Given the description of an element on the screen output the (x, y) to click on. 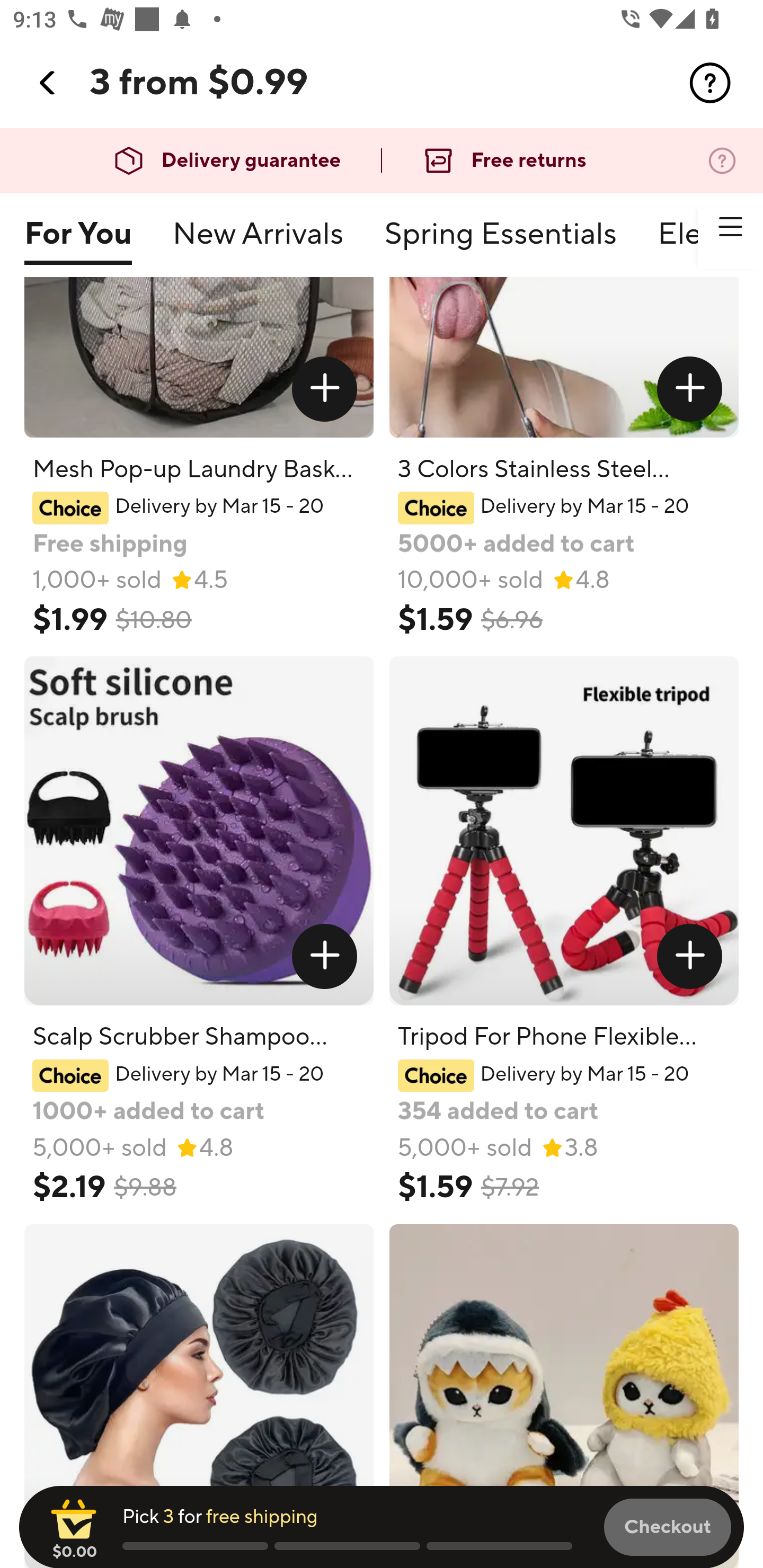
 (710, 82)
 (48, 82)
 (730, 226)
For You (77, 242)
New Arrivals (257, 242)
Spring Essentials (500, 242)
 (323, 389)
 (689, 389)
 (323, 956)
 (689, 956)
